Given the description of an element on the screen output the (x, y) to click on. 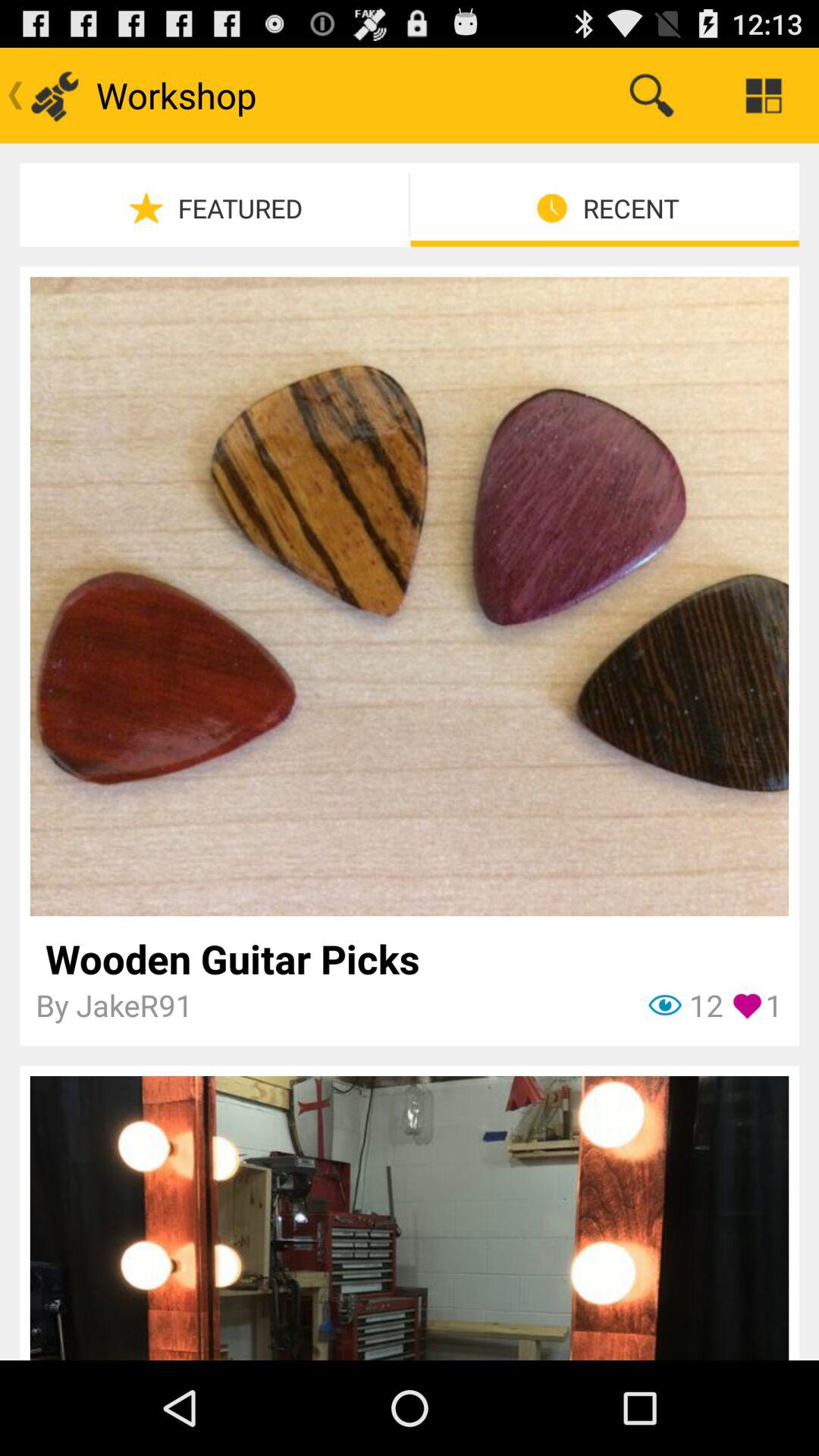
select icon above recent icon (763, 95)
